Given the description of an element on the screen output the (x, y) to click on. 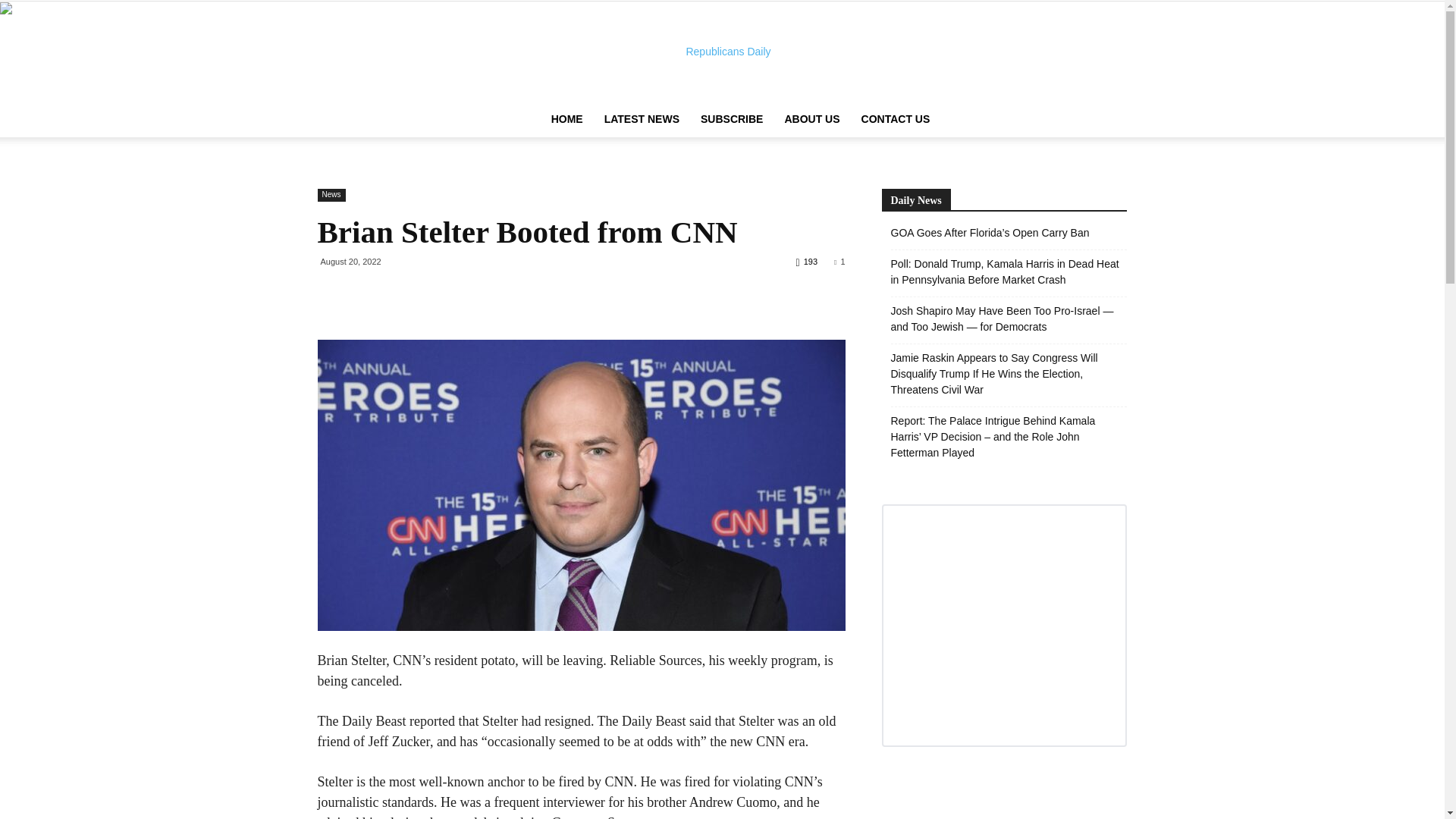
HOME (567, 118)
News (331, 195)
CONTACT US (895, 118)
LATEST NEWS (642, 118)
ABOUT US (811, 118)
1 (839, 261)
SUBSCRIBE (731, 118)
